Given the description of an element on the screen output the (x, y) to click on. 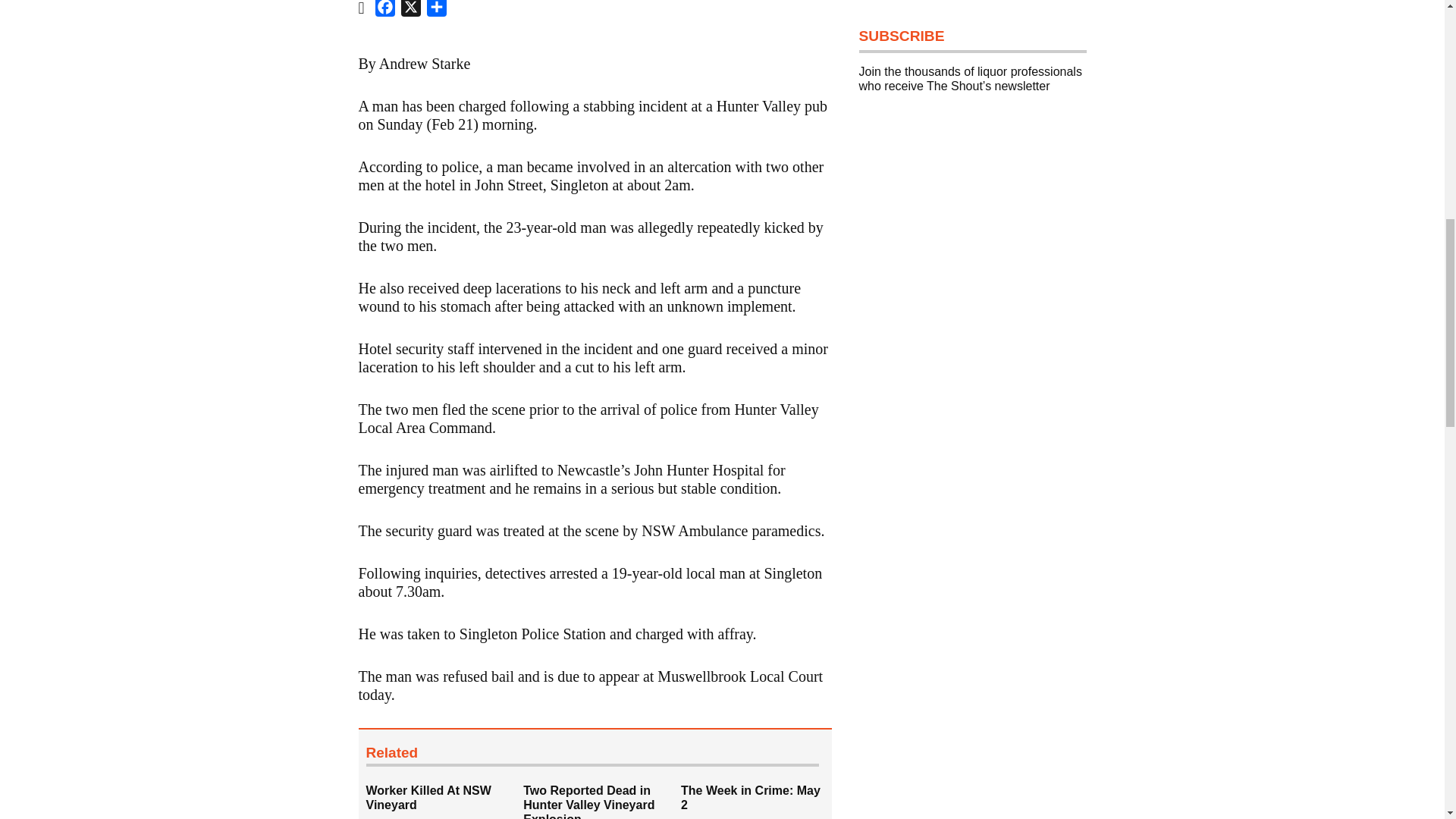
Worker Killed At NSW Vineyard (443, 800)
Form 0 (972, 237)
X (410, 11)
Two Reported Dead in Hunter Valley Vineyard Explosion (587, 801)
Two Reported Dead in Hunter Valley Vineyard Explosion (601, 800)
3rd party ad content (972, 601)
The Week in Crime: May 2 (759, 800)
The Week in Crime: May 2 (751, 797)
Facebook (384, 11)
Worker Killed At NSW Vineyard (427, 797)
